Given the description of an element on the screen output the (x, y) to click on. 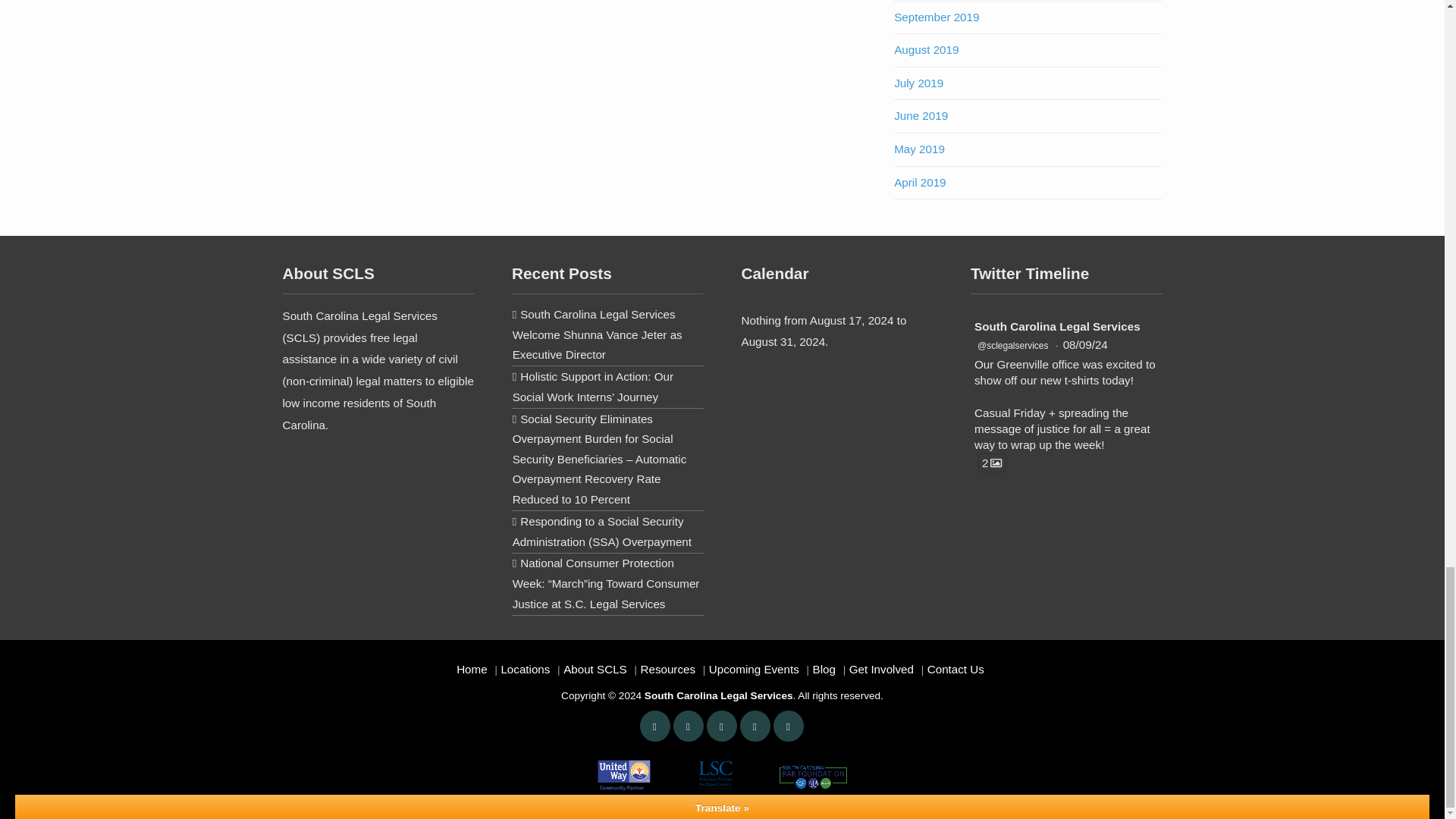
Instagram (788, 726)
Twitter (654, 726)
Facebook (687, 726)
Youtube (754, 726)
Linkedin (721, 726)
